Given the description of an element on the screen output the (x, y) to click on. 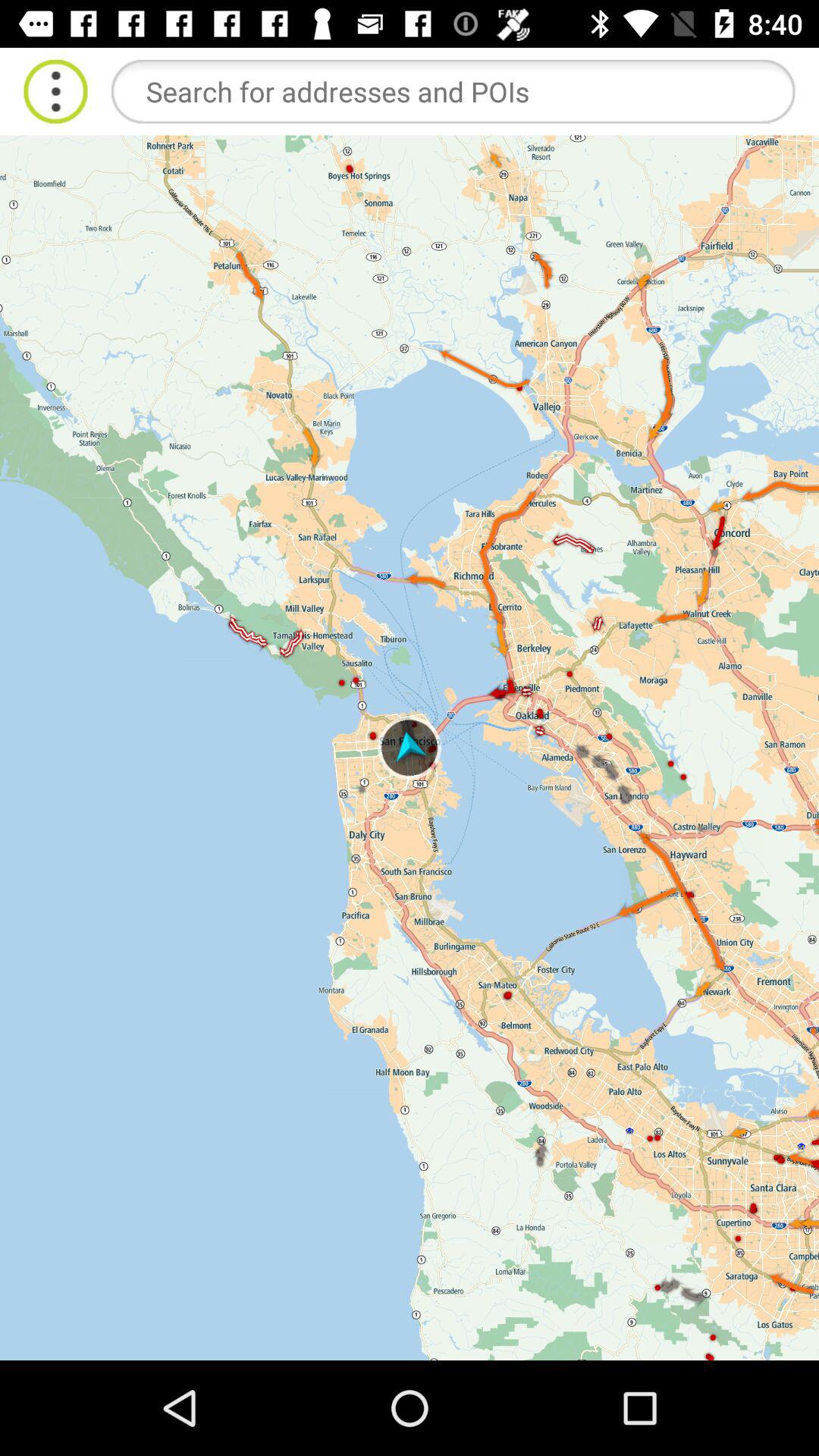
go bak (55, 91)
